Given the description of an element on the screen output the (x, y) to click on. 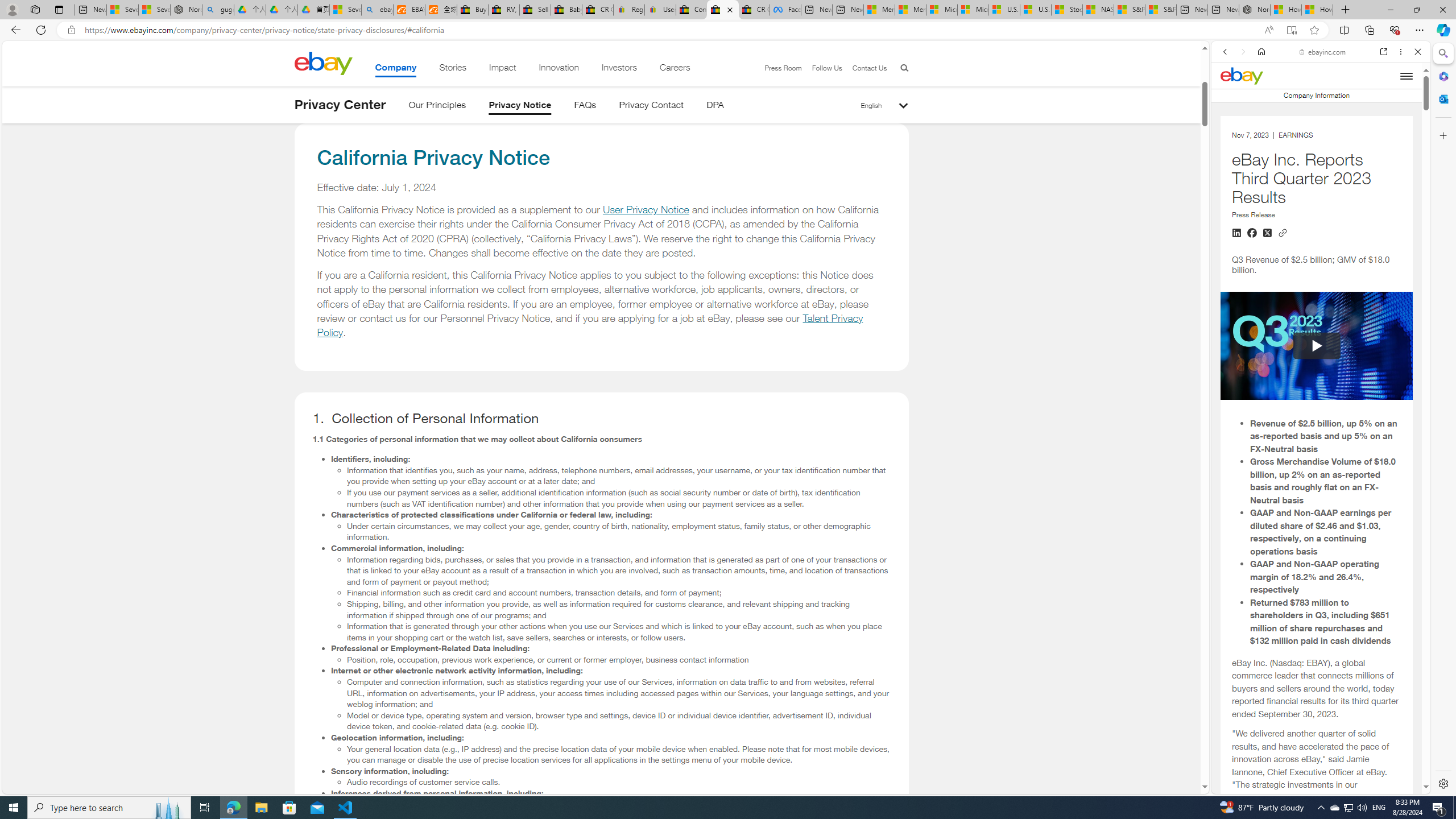
Consumer Health Data Privacy Policy - eBay Inc. (691, 9)
User Privacy Notice (645, 209)
User Privacy Notice | eBay (660, 9)
Our Principles (436, 107)
How to Use a Monitor With Your Closed Laptop (1317, 9)
ebayinc.com (1323, 51)
Facebook (785, 9)
including vs included (1315, 690)
RV, Trailer & Camper Steps & Ladders for sale | eBay (503, 9)
DPA (714, 107)
